Given the description of an element on the screen output the (x, y) to click on. 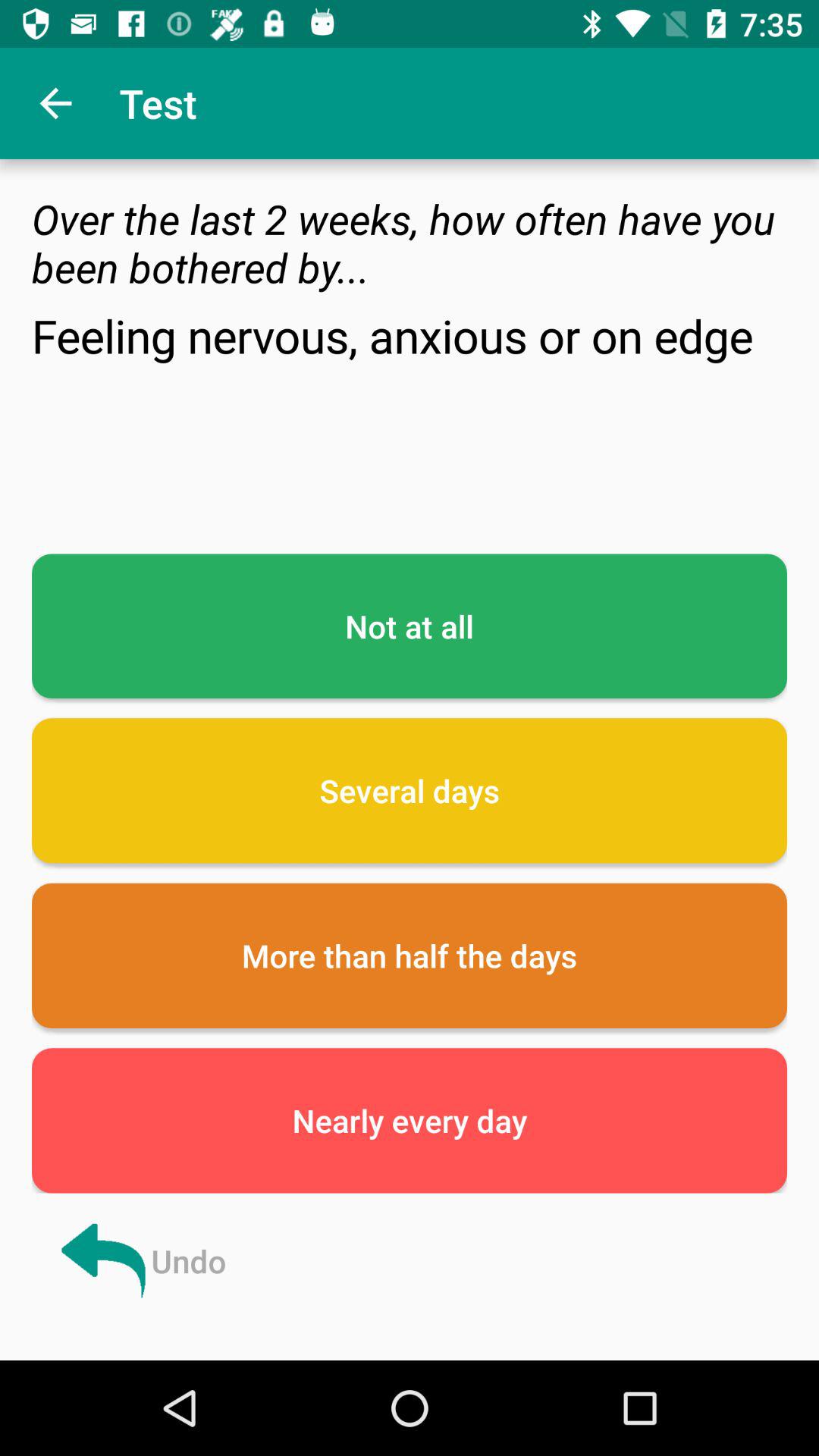
press the icon below the nearly every day (140, 1260)
